Given the description of an element on the screen output the (x, y) to click on. 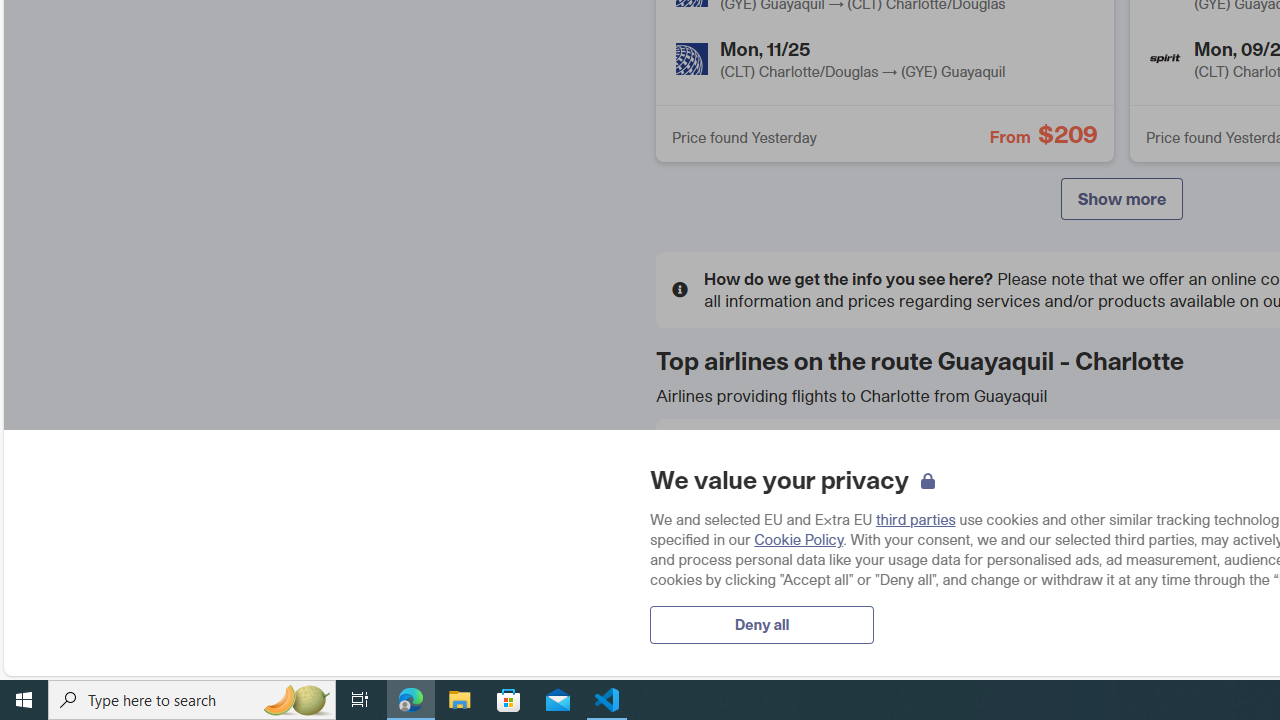
Avianca Avianca (1121, 467)
